Given the description of an element on the screen output the (x, y) to click on. 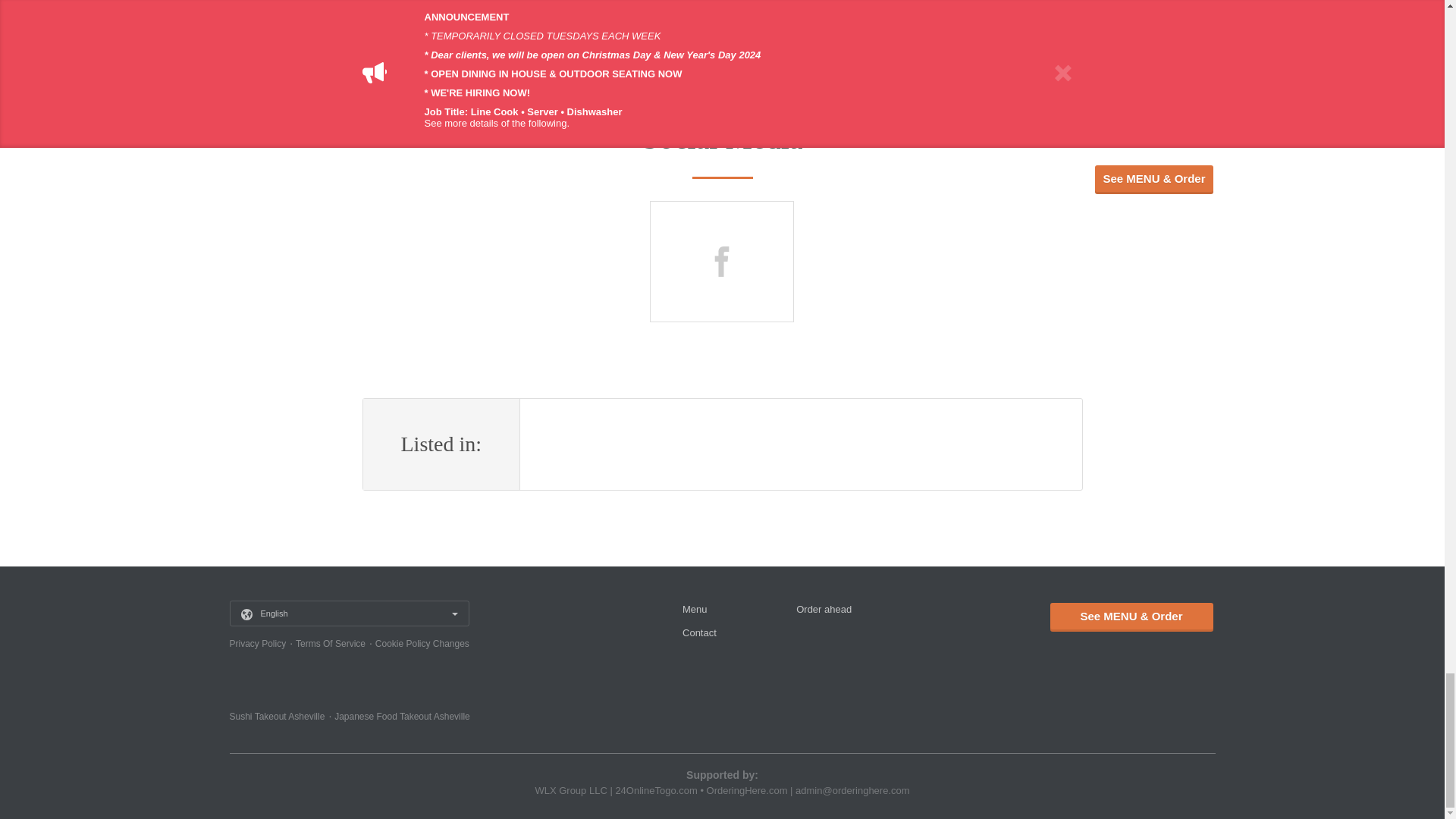
Privacy Policy (256, 643)
Contact (699, 632)
Order ahead (823, 609)
Cookie Policy Changes (421, 643)
Menu (694, 609)
Sushi Takeout Asheville (276, 716)
Terms Of Service (330, 643)
DOWNLOAD APP (721, 26)
Japanese Food Takeout Asheville (402, 716)
